Given the description of an element on the screen output the (x, y) to click on. 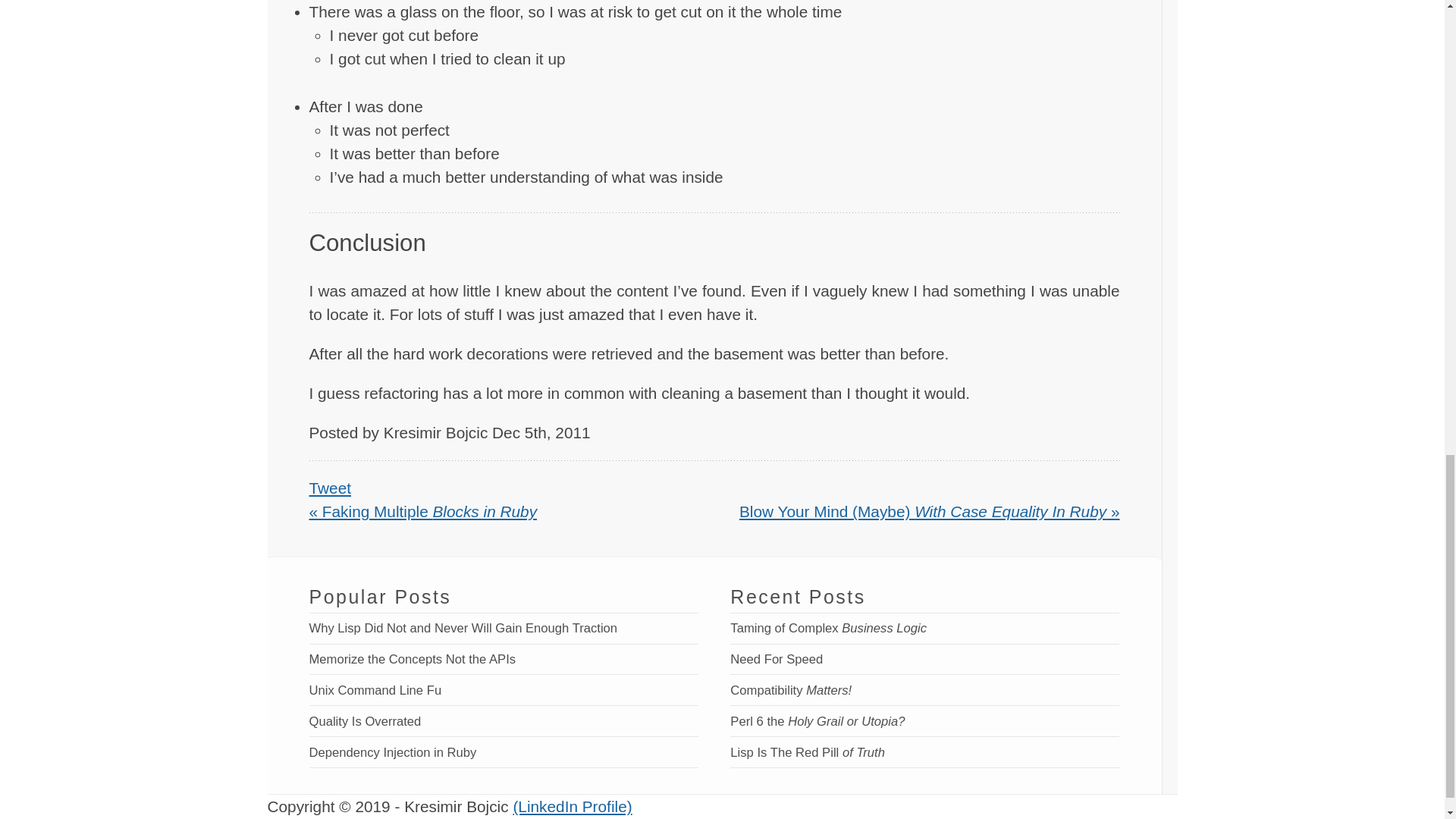
Quality Is Overrated (365, 721)
Lisp Is The Red Pill of Truth (807, 752)
Tweet (330, 487)
Unix Command Line Fu (375, 690)
Dependency Injection in Ruby (392, 752)
Perl 6 the Holy Grail or Utopia? (817, 721)
Compatibility Matters! (790, 690)
Memorize the Concepts Not the APIs (412, 658)
Why Lisp Did Not and Never Will Gain Enough Traction (462, 627)
Need For Speed (776, 658)
